Given the description of an element on the screen output the (x, y) to click on. 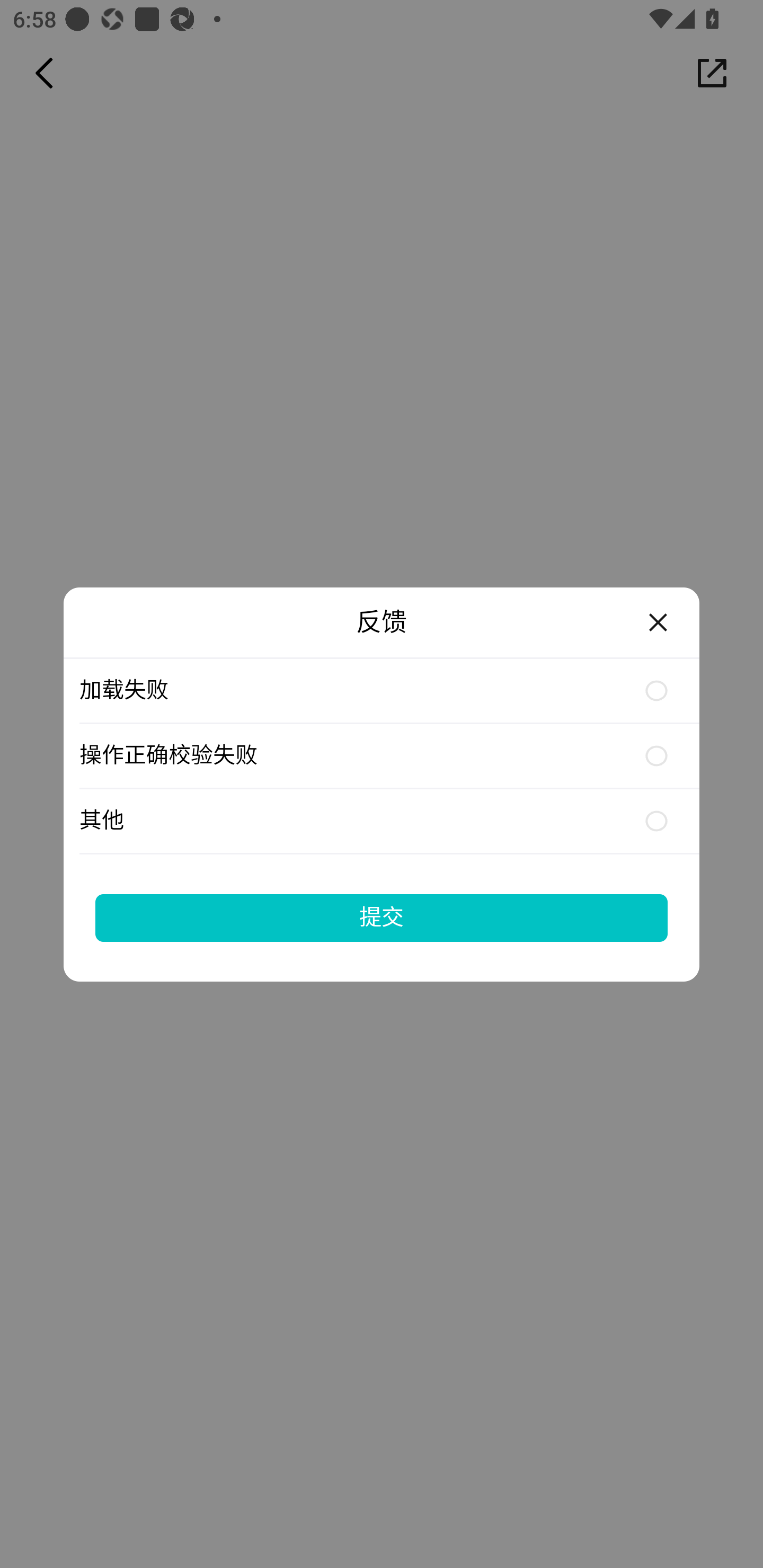
提交 (381, 917)
